Given the description of an element on the screen output the (x, y) to click on. 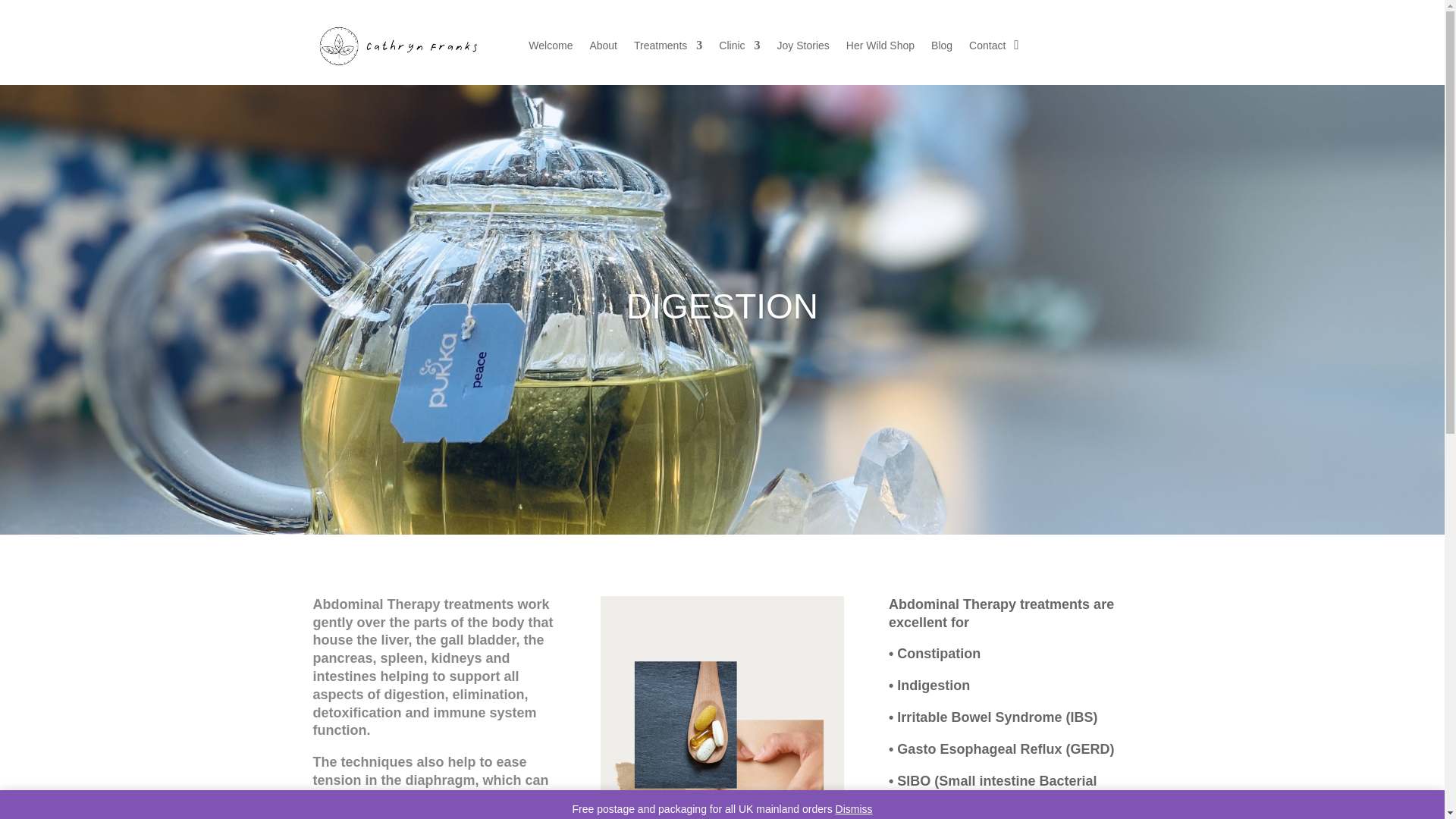
Treatments (667, 48)
Dismiss (853, 808)
6 (721, 707)
Clinic (739, 48)
Blog (941, 48)
About (603, 48)
Contact (987, 48)
Her Wild Shop (879, 48)
Joy Stories (803, 48)
Welcome (550, 48)
